Given the description of an element on the screen output the (x, y) to click on. 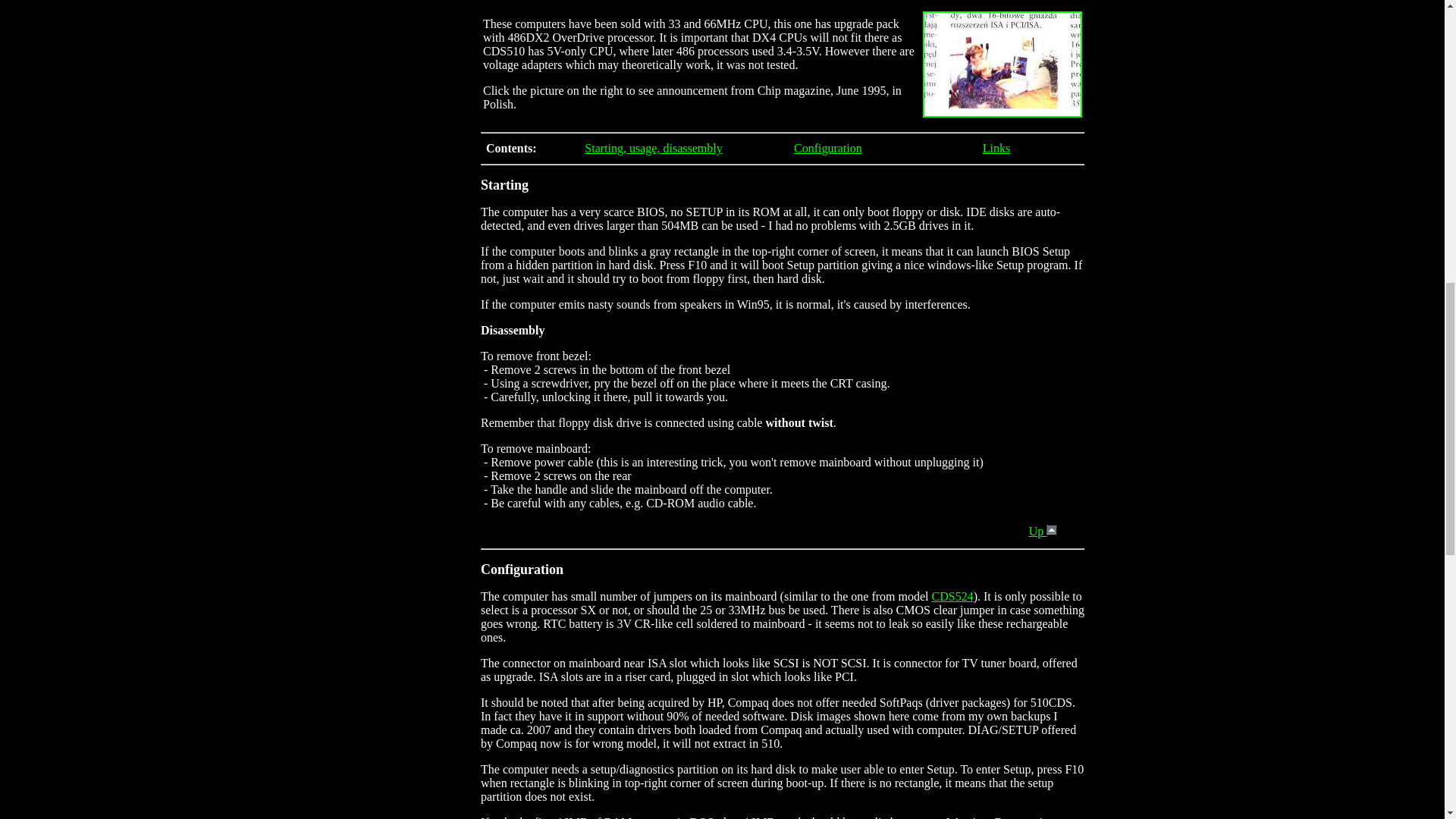
Up (1043, 530)
Starting, usage, disassembly (653, 147)
Links (996, 147)
Configuration (827, 147)
CDS524 (952, 595)
